Given the description of an element on the screen output the (x, y) to click on. 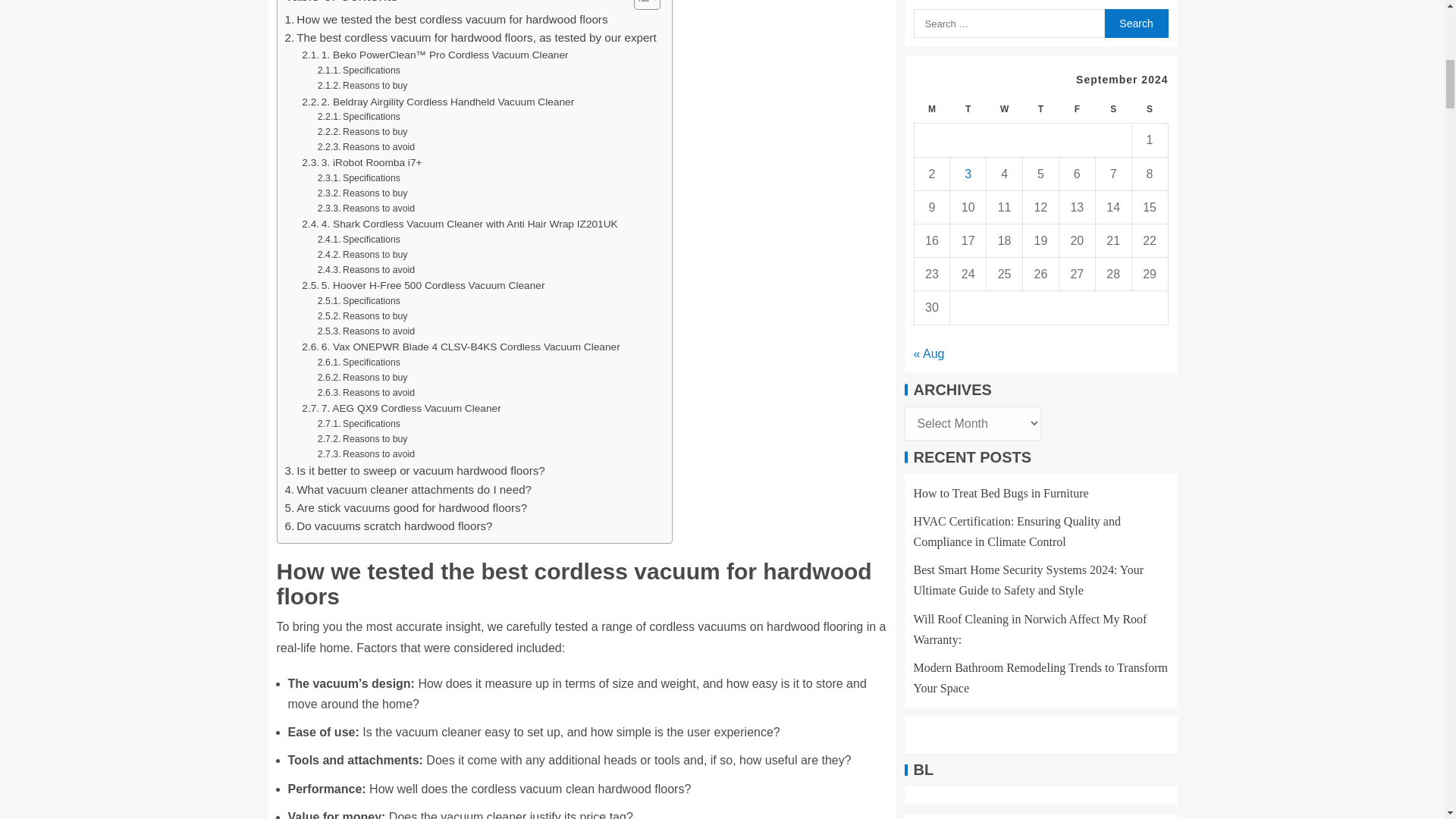
4. Shark Cordless Vacuum Cleaner with Anti Hair Wrap IZ201UK (459, 224)
Reasons to buy (362, 86)
Specifications (358, 70)
How we tested the best cordless vacuum for hardwood floors (446, 19)
Reasons to buy (362, 193)
2. Beldray Airgility Cordless Handheld Vacuum Cleaner (437, 102)
Specifications (358, 70)
Specifications (358, 117)
